Given the description of an element on the screen output the (x, y) to click on. 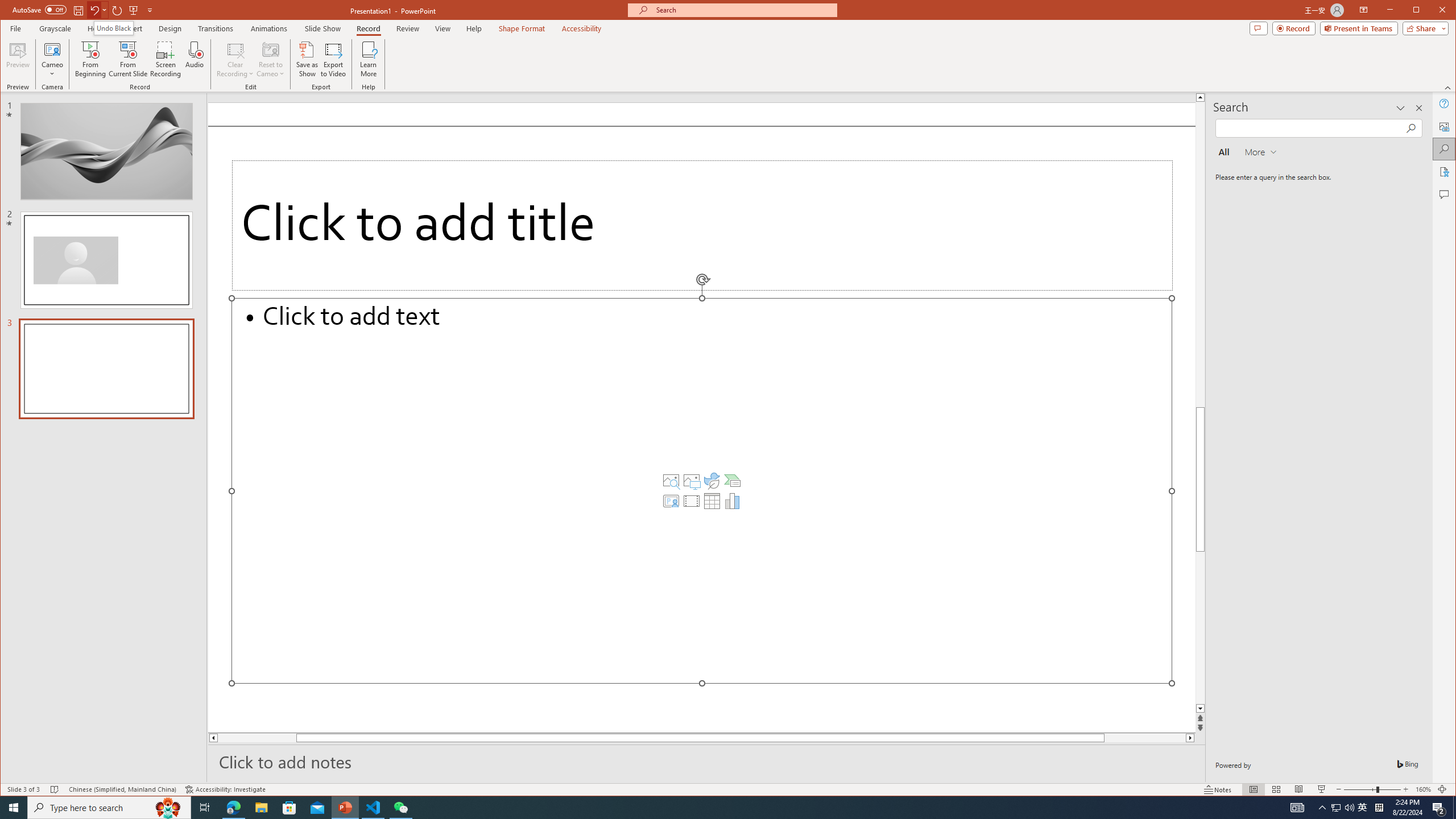
Insert a SmartArt Graphic (732, 480)
Export to Video (333, 59)
Stock Images (670, 480)
Show desktop (1454, 807)
Content Placeholder (701, 490)
Maximize (1432, 11)
Running applications (1362, 807)
